Given the description of an element on the screen output the (x, y) to click on. 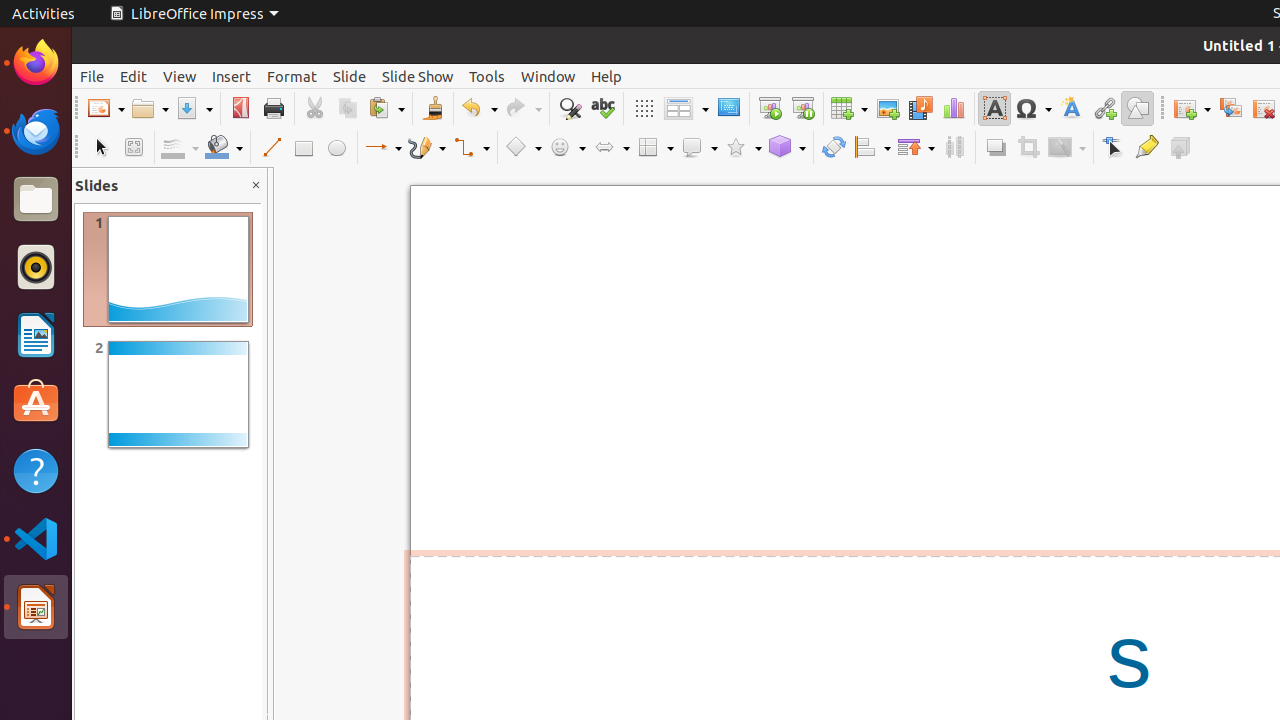
Rhythmbox Element type: push-button (36, 267)
Filter Element type: push-button (1067, 147)
Edit Element type: menu (133, 76)
New Element type: push-button (106, 108)
Connectors Element type: push-button (471, 147)
